Given the description of an element on the screen output the (x, y) to click on. 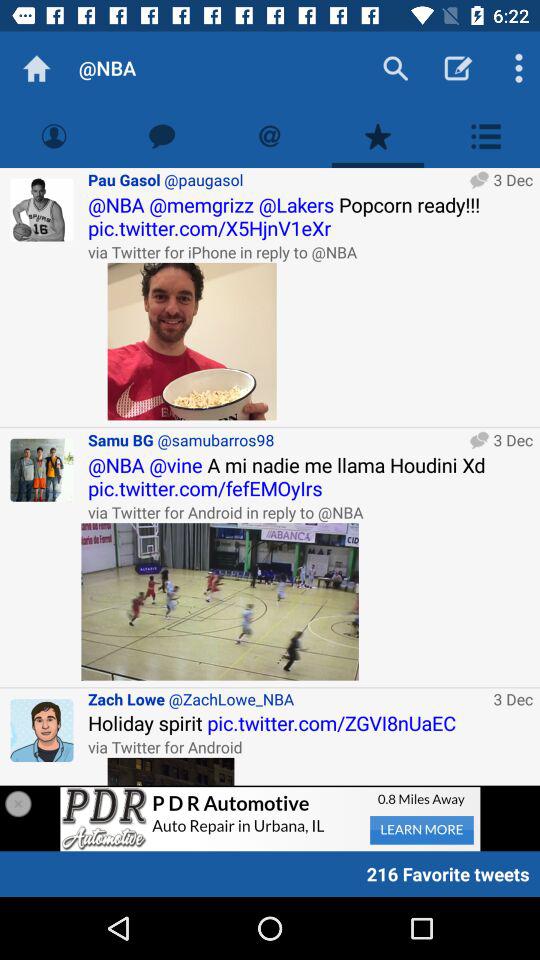
launch icon above pau gasol @paugasol item (162, 136)
